Given the description of an element on the screen output the (x, y) to click on. 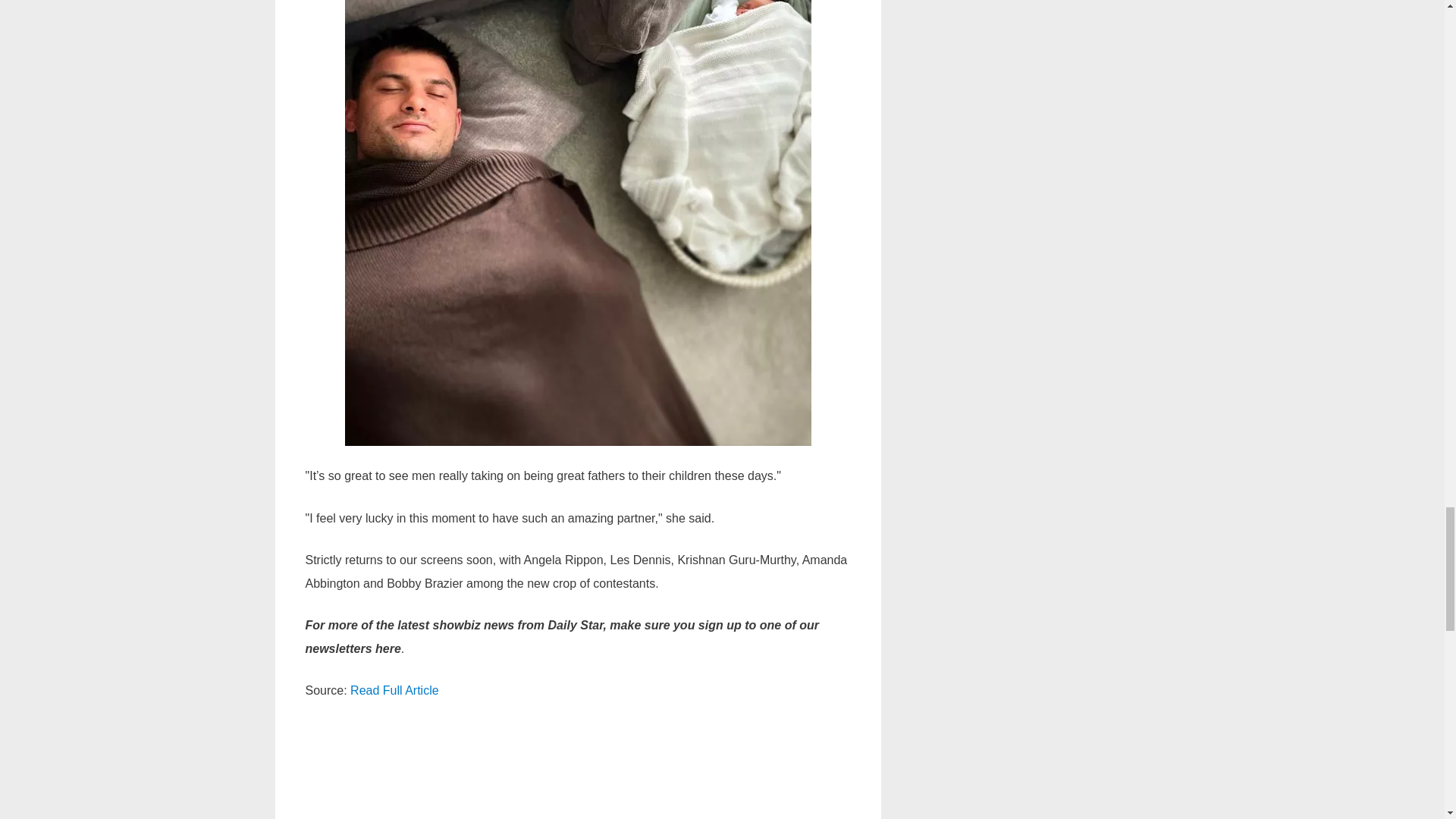
Read Full Article (394, 689)
